Given the description of an element on the screen output the (x, y) to click on. 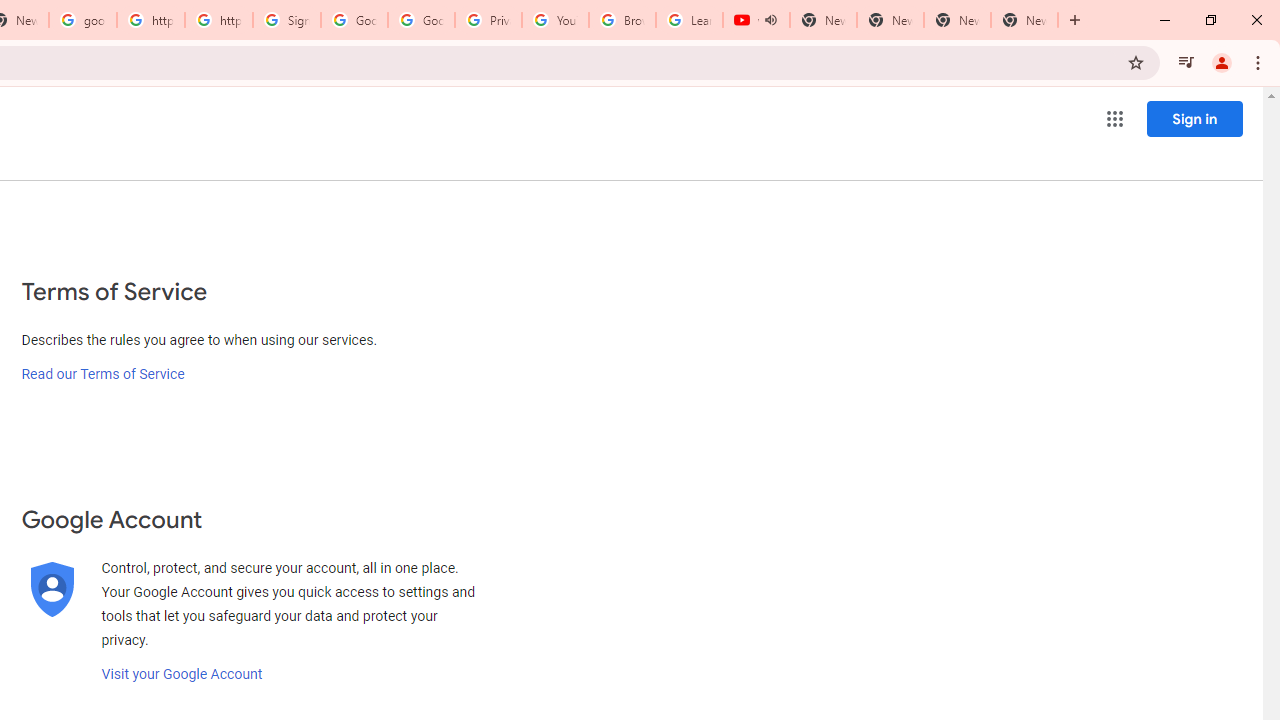
Control your music, videos, and more (1185, 62)
Read our Terms of Service (102, 374)
https://scholar.google.com/ (219, 20)
Google apps (1114, 118)
YouTube (555, 20)
Sign in - Google Accounts (287, 20)
Browse Chrome as a guest - Computer - Google Chrome Help (622, 20)
Sign in (1194, 118)
New Tab (1024, 20)
